Given the description of an element on the screen output the (x, y) to click on. 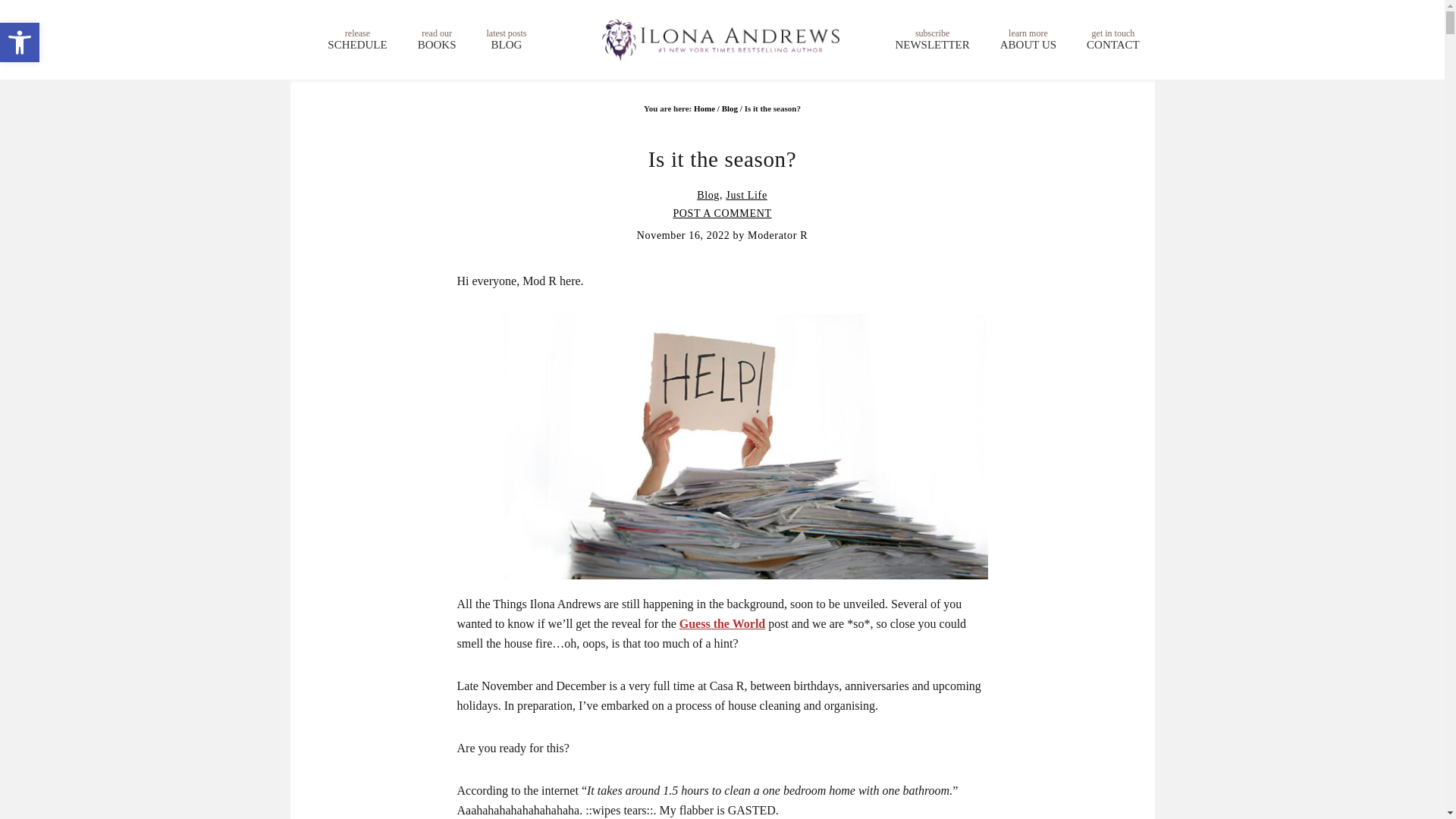
POST A COMMENT (1028, 39)
Guess the World (721, 213)
Accessibility Tools (722, 623)
Home (437, 39)
Blog (19, 42)
Accessibility Tools (704, 108)
Just Life (708, 194)
Blog (19, 42)
